Given the description of an element on the screen output the (x, y) to click on. 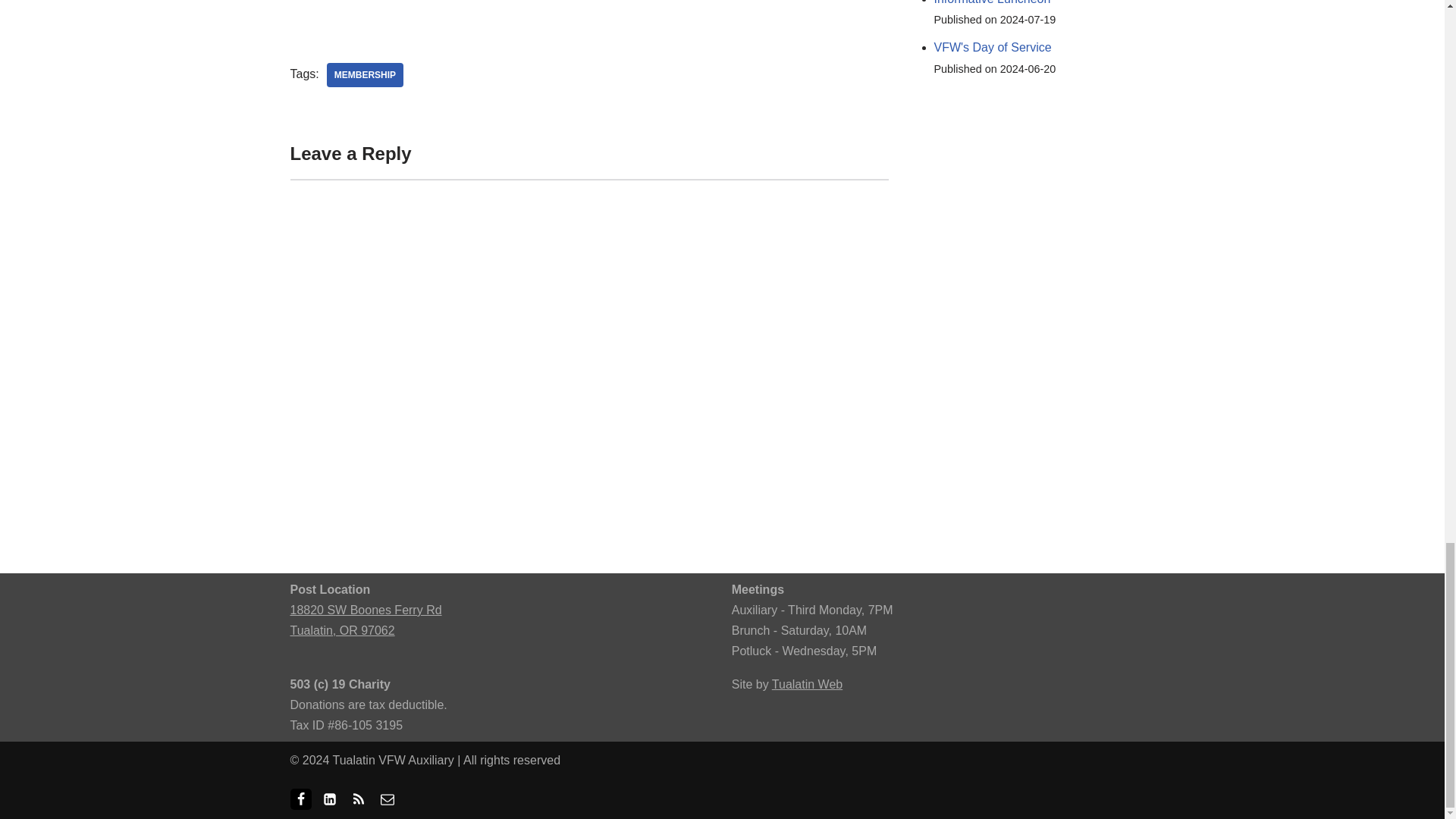
Facebook (300, 798)
RSS (357, 798)
Email (386, 798)
LinkedIn (328, 798)
membership (364, 74)
